Given the description of an element on the screen output the (x, y) to click on. 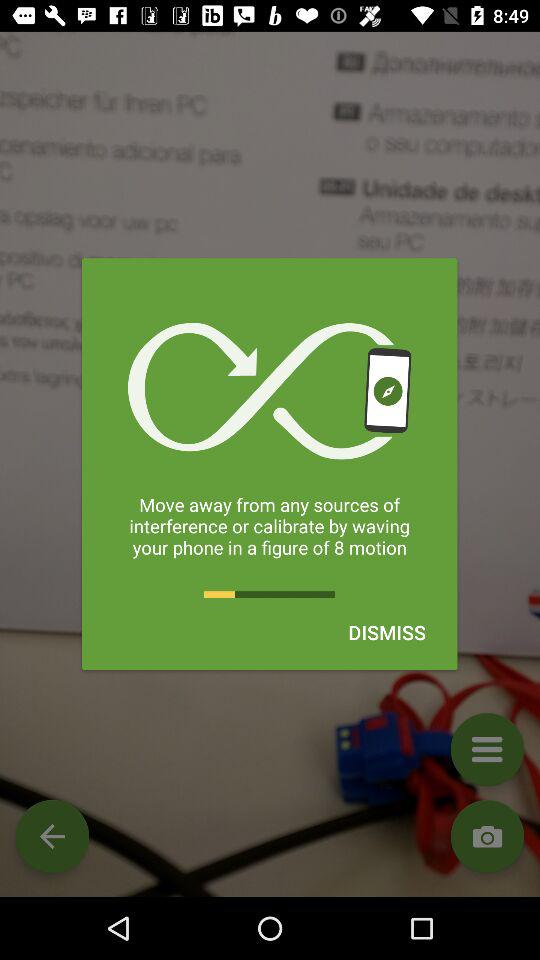
swipe to the dismiss item (386, 632)
